Given the description of an element on the screen output the (x, y) to click on. 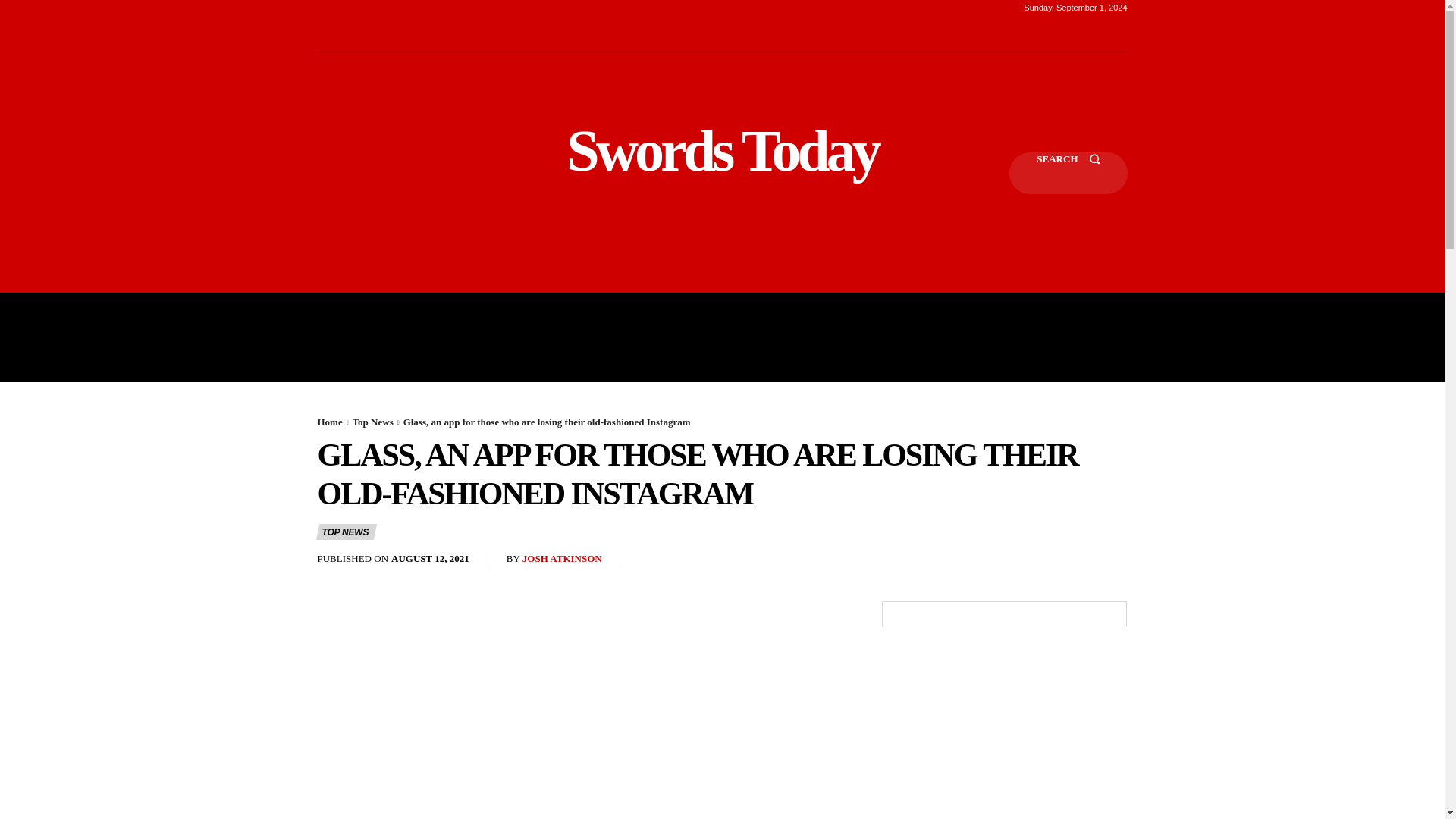
Home (329, 421)
TOP NEWS (345, 531)
Swords Today (722, 149)
SEARCH (1067, 173)
JOSH ATKINSON (562, 558)
View all posts in Top News (372, 421)
Search (1067, 173)
Top News (372, 421)
